Given the description of an element on the screen output the (x, y) to click on. 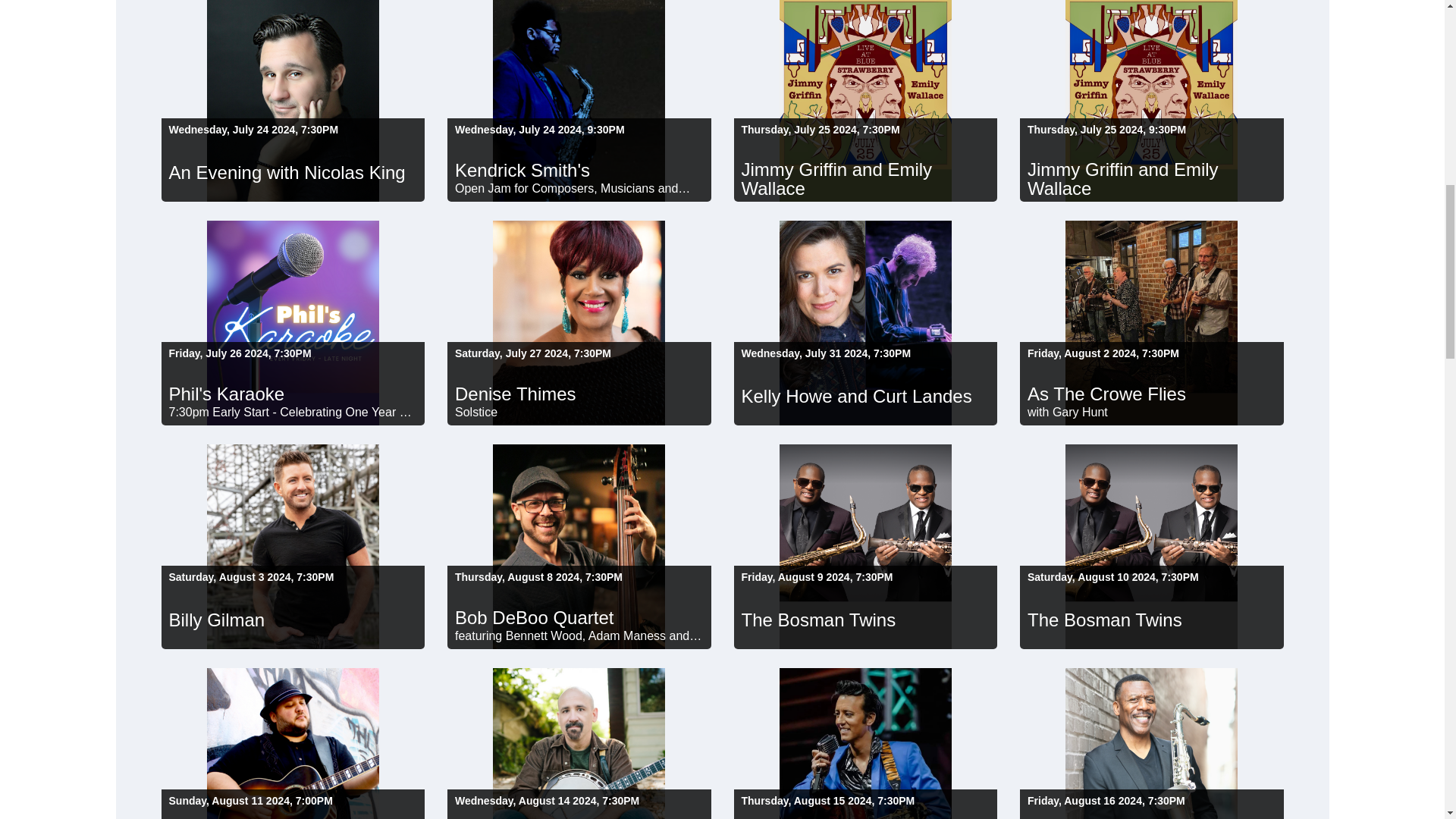
7:30pm Early Start - Celebrating One Year of Phil's Karaoke! (292, 412)
Denise Thimes (578, 389)
Solstice (578, 412)
Jimmy Griffin and Emily Wallace (865, 175)
Open Jam for Composers, Musicians and Vocalists (578, 188)
As The Crowe Flies (1151, 389)
Jimmy Griffin and Emily Wallace (1151, 175)
Billy Gilman (292, 615)
with Gary Hunt (1151, 412)
Kendrick Smith's (578, 166)
An Evening with Nicolas King (292, 168)
Kelly Howe and Curt Landes (865, 392)
Phil's Karaoke (292, 389)
